Given the description of an element on the screen output the (x, y) to click on. 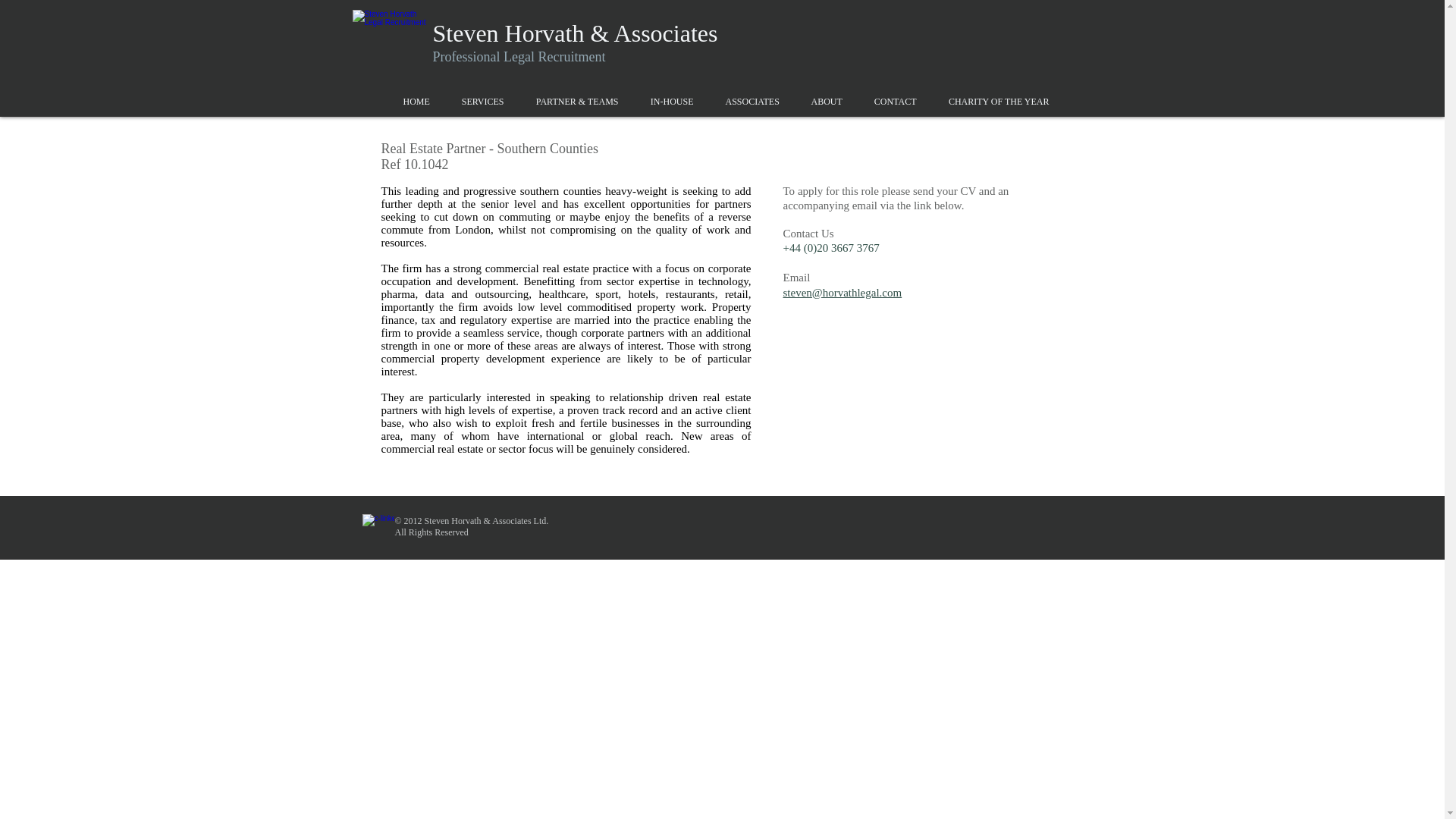
SERVICES (482, 101)
CHARITY OF THE YEAR (999, 101)
ASSOCIATES (752, 101)
HOME (416, 101)
IN-HOUSE (671, 101)
To (788, 191)
CONTACT (896, 101)
ABOUT (825, 101)
Professional Legal Recruitment (518, 56)
Steven Horvath Legal Recruitment (391, 41)
